Given the description of an element on the screen output the (x, y) to click on. 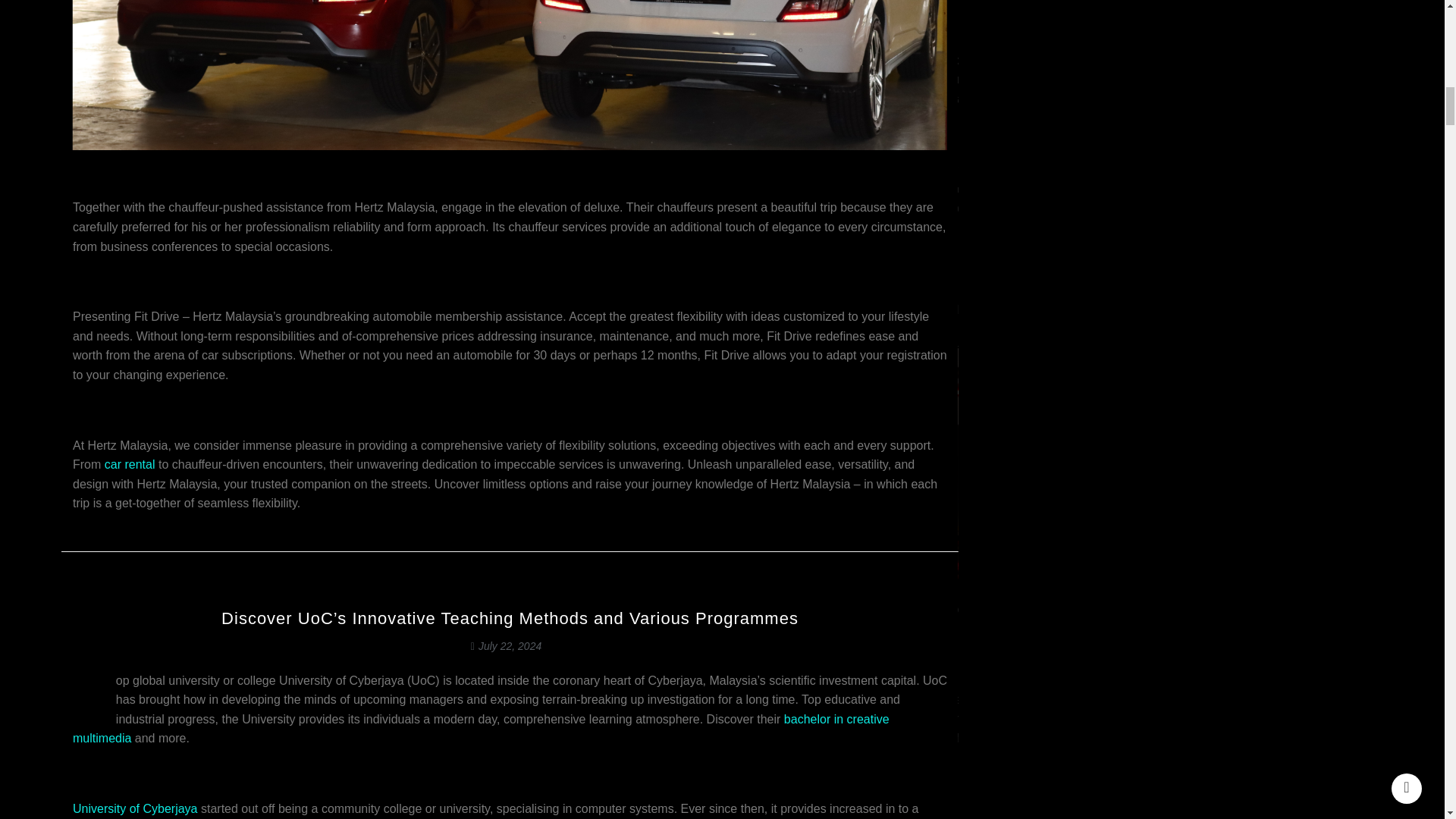
bachelor in creative multimedia (42, 728)
